Given the description of an element on the screen output the (x, y) to click on. 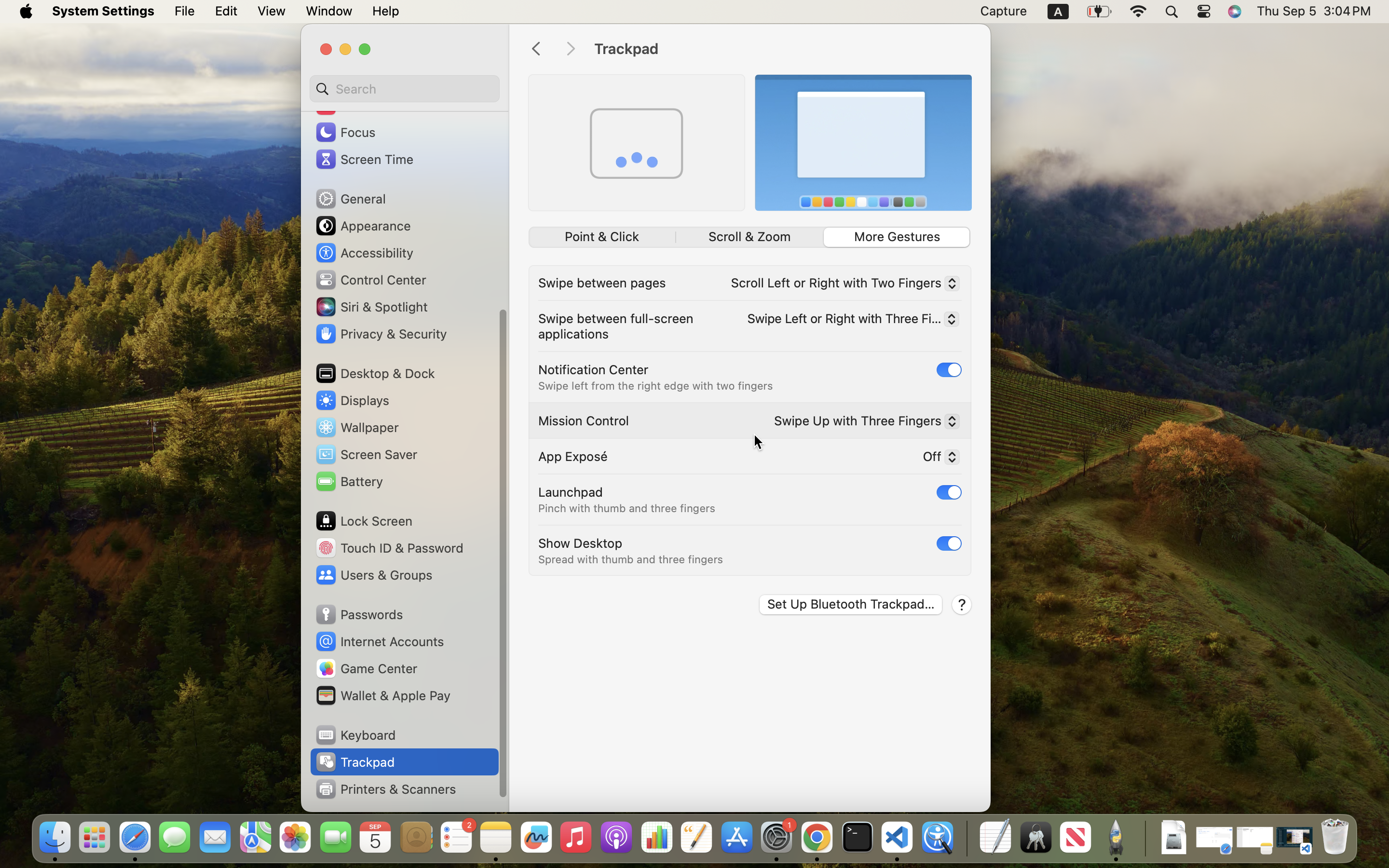
Launchpad Element type: AXStaticText (570, 491)
Screen Time Element type: AXStaticText (363, 158)
App Exposé Element type: AXStaticText (572, 455)
Game Center Element type: AXStaticText (365, 667)
Desktop & Dock Element type: AXStaticText (374, 372)
